Given the description of an element on the screen output the (x, y) to click on. 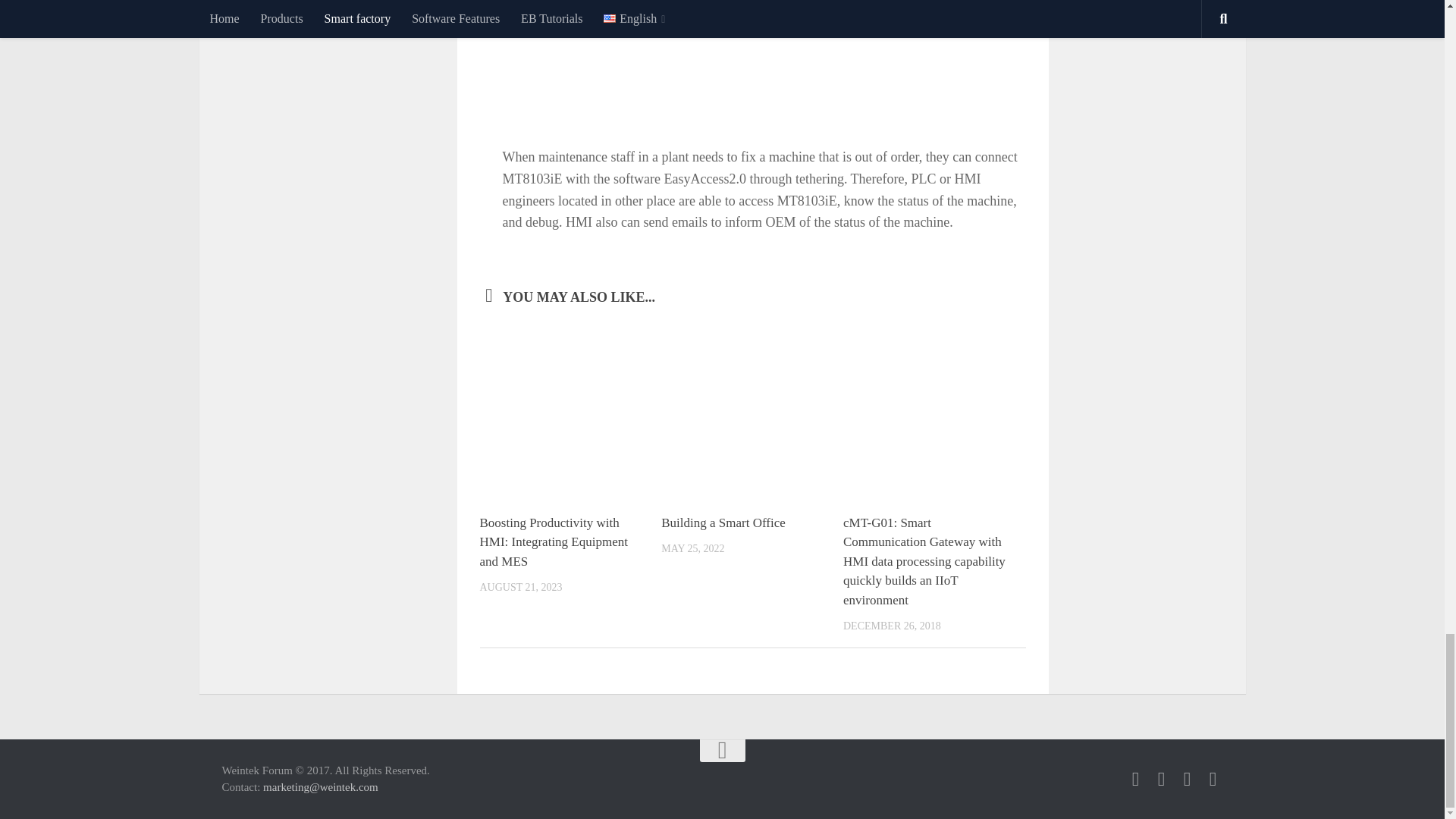
Building a Smart Office (723, 522)
